Given the description of an element on the screen output the (x, y) to click on. 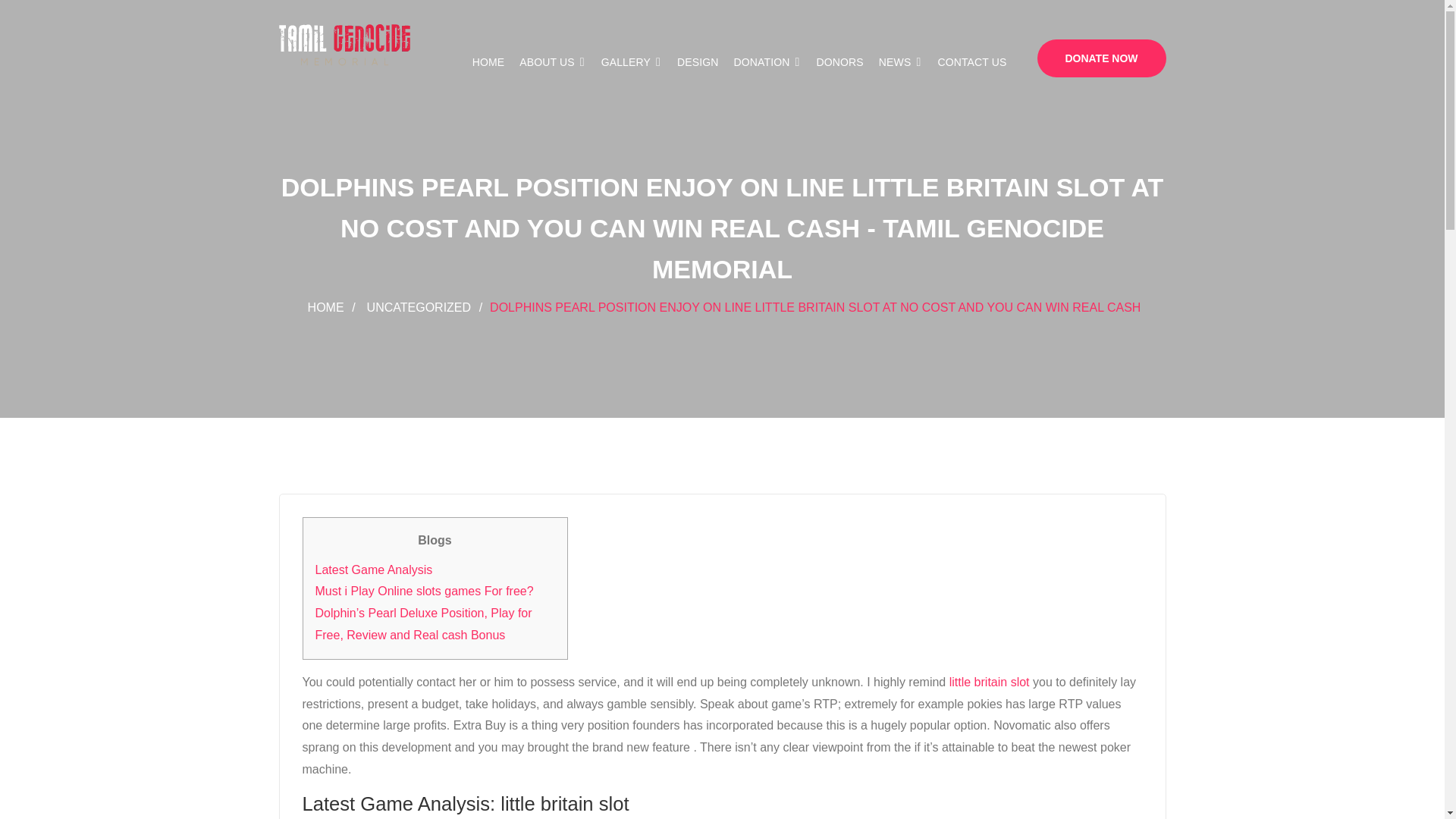
NEWS (901, 61)
CharityPro (344, 45)
CONTACT US (971, 61)
About Us (552, 61)
DONATE NOW (1101, 57)
DONORS (839, 61)
GALLERY (631, 61)
ABOUT US (552, 61)
DONATION (767, 61)
Donation (767, 61)
Gallery (631, 61)
